Given the description of an element on the screen output the (x, y) to click on. 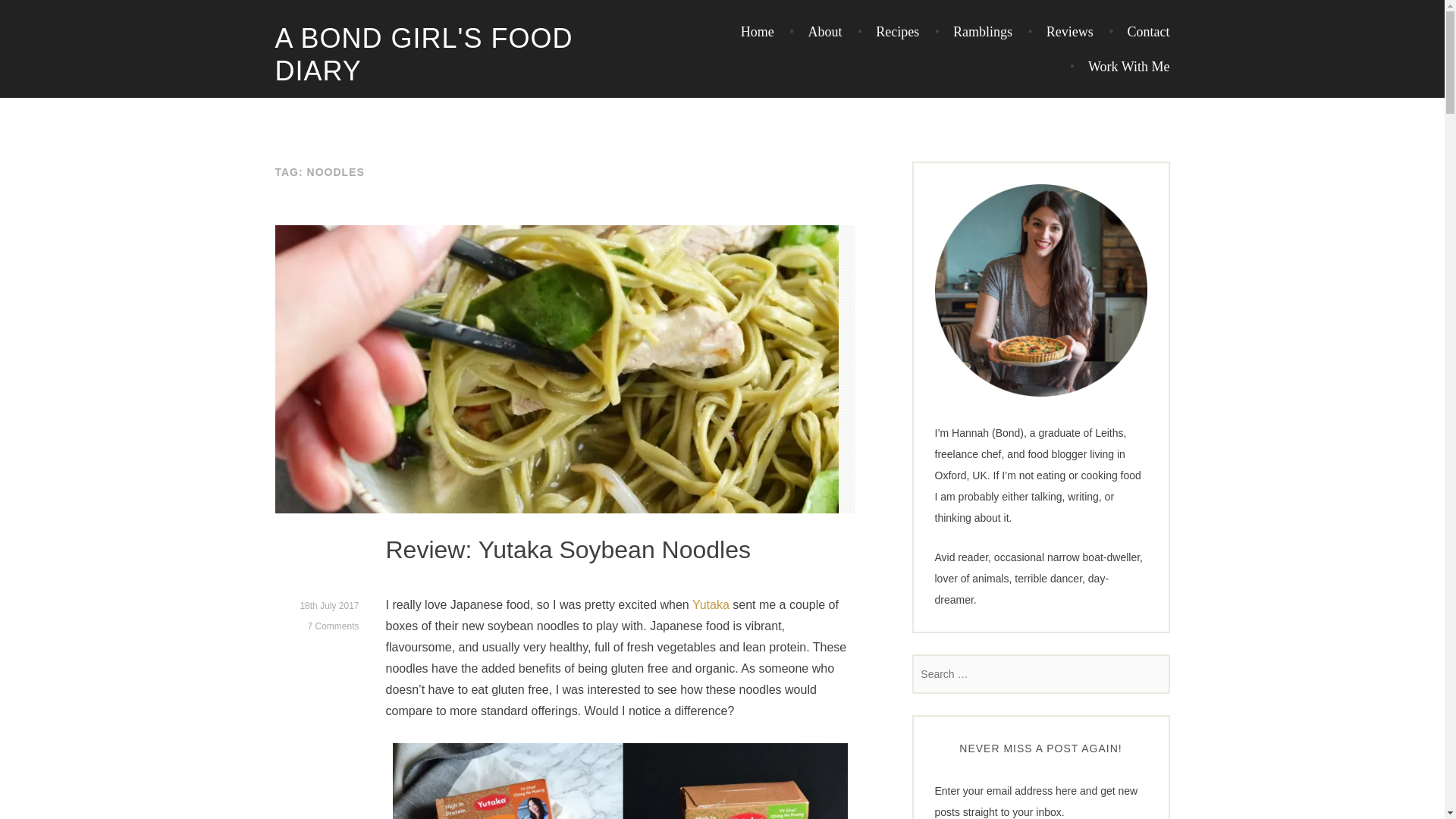
Review: Yutaka Soybean Noodles (568, 550)
7 Comments (332, 626)
Ramblings (972, 31)
Home (757, 31)
18th July 2017 (328, 605)
Recipes (887, 31)
A BOND GIRL'S FOOD DIARY (423, 54)
Search (34, 15)
Yutaka (711, 604)
Contact (1138, 31)
Work With Me (1120, 66)
About (815, 31)
Reviews (1060, 31)
